Given the description of an element on the screen output the (x, y) to click on. 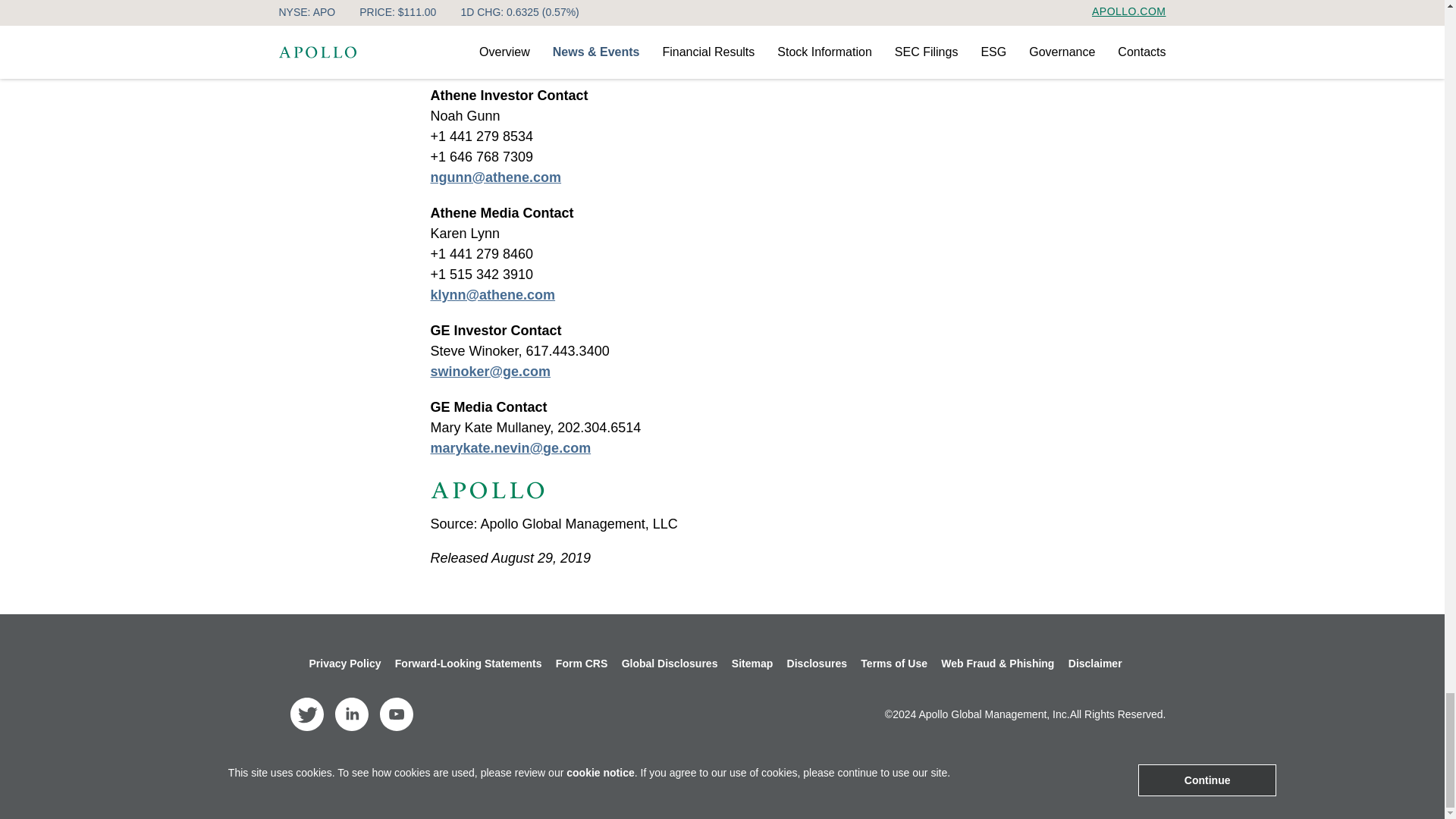
Opens in a new window (306, 713)
Opens in a new window (493, 294)
Opens in a new window (351, 713)
Opens in a new window (817, 663)
Opens in a new window (490, 371)
Opens in a new window (395, 713)
Opens in a new window (580, 783)
Opens in a new window (513, 59)
Opens in a new window (496, 177)
Opens in a new window (510, 447)
